Given the description of an element on the screen output the (x, y) to click on. 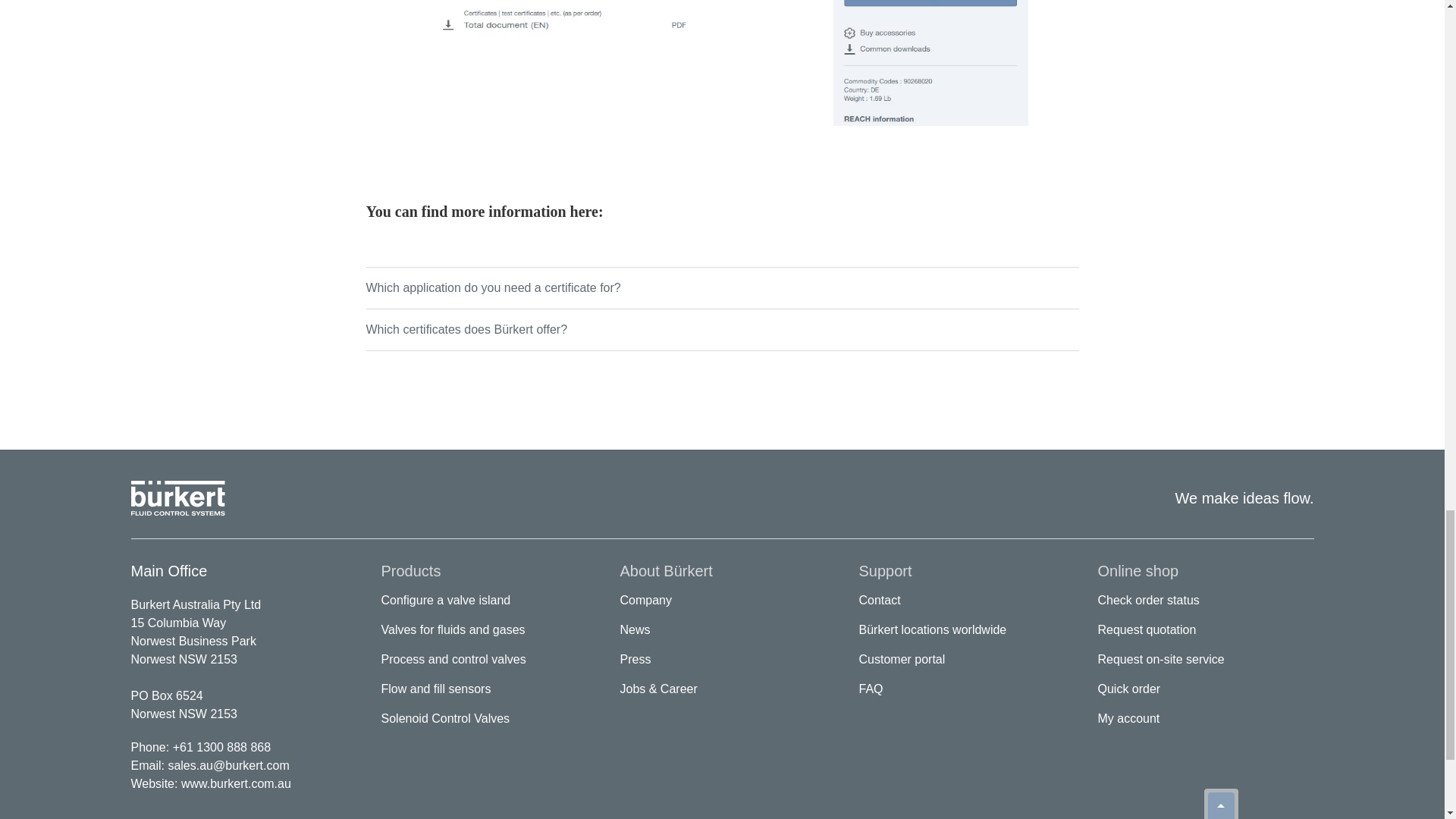
Buerkert logo (177, 497)
